Given the description of an element on the screen output the (x, y) to click on. 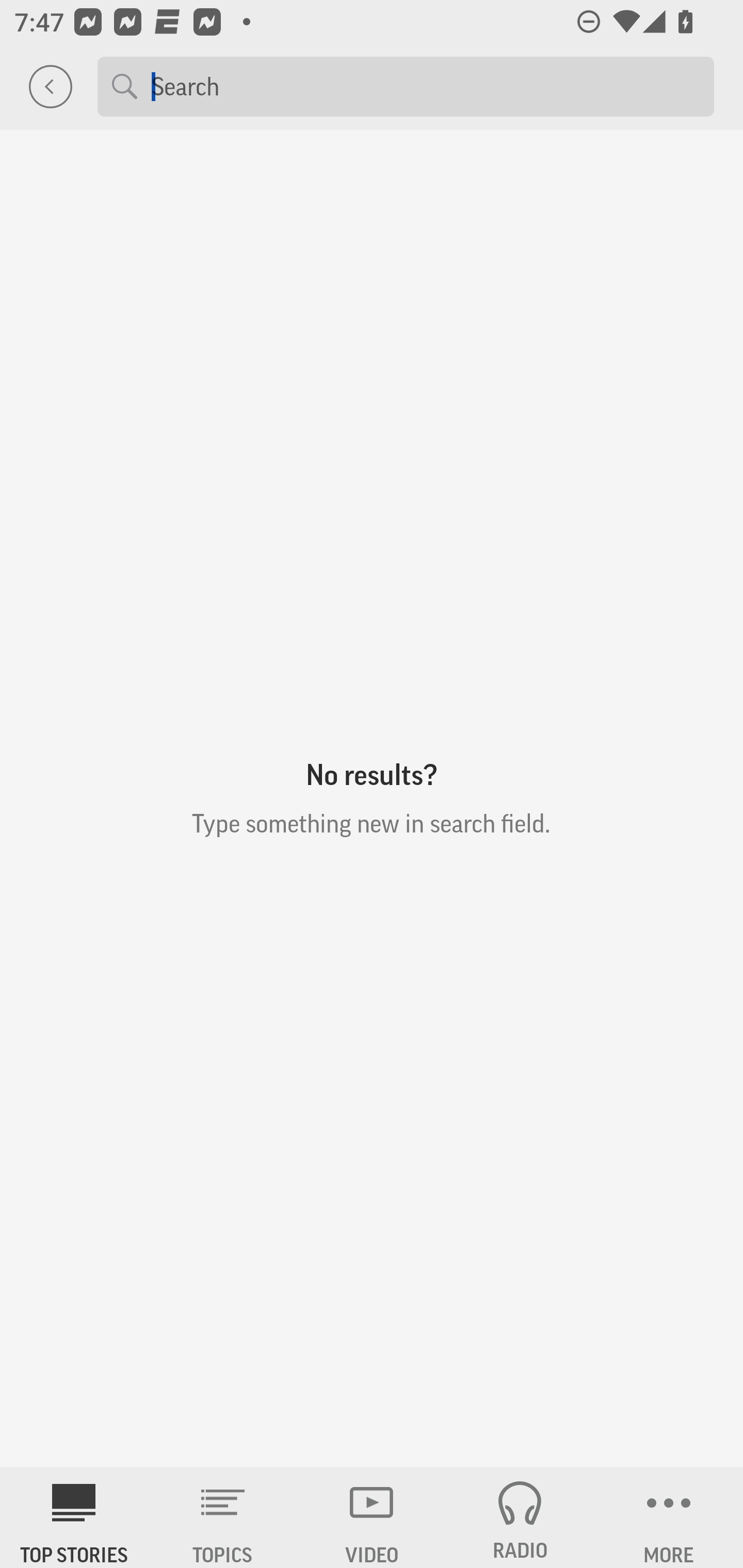
Search (425, 86)
AP News TOP STORIES (74, 1517)
TOPICS (222, 1517)
VIDEO (371, 1517)
RADIO (519, 1517)
MORE (668, 1517)
